Given the description of an element on the screen output the (x, y) to click on. 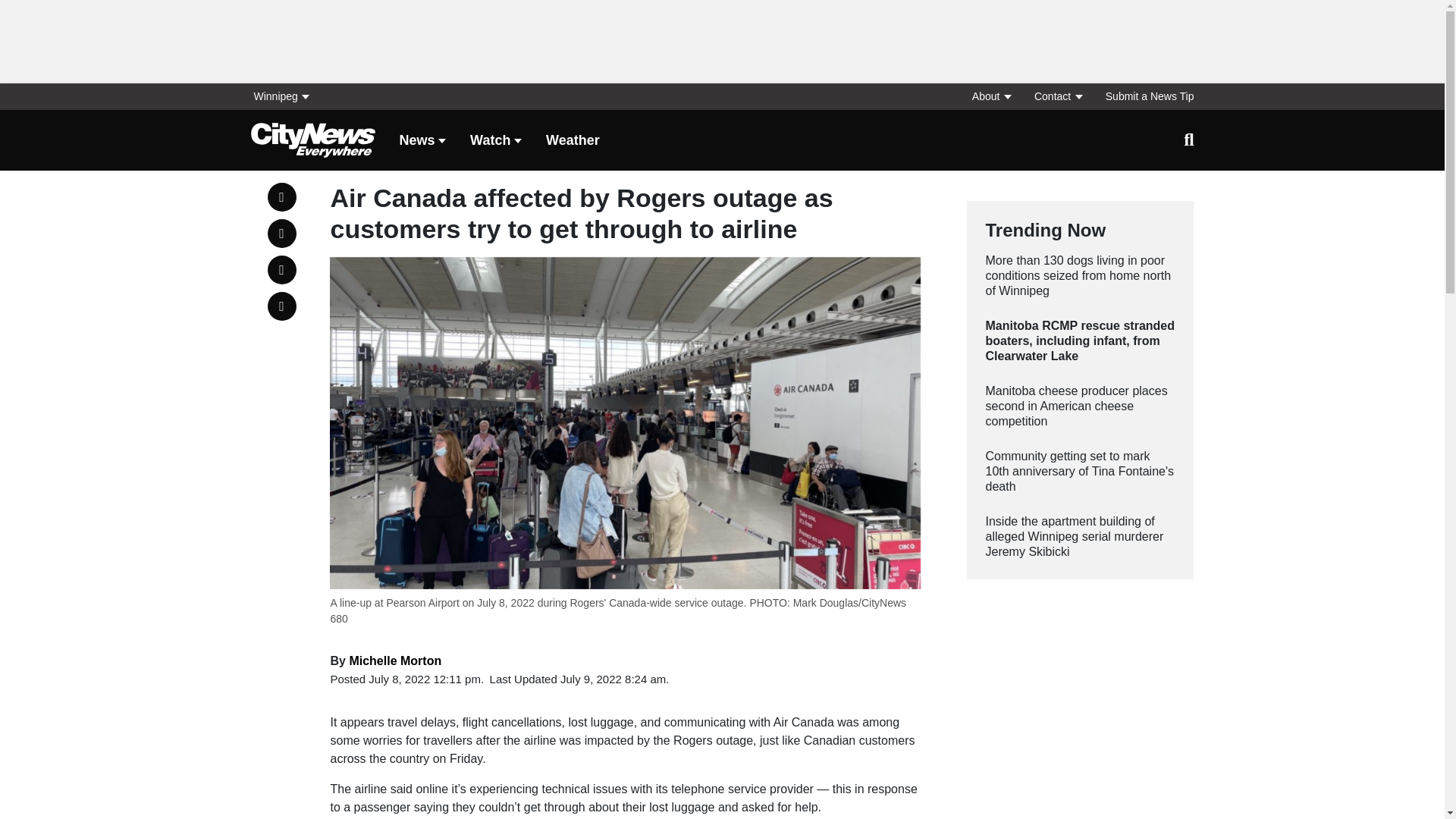
Contact (1057, 96)
Watch (495, 140)
About (990, 96)
News (421, 140)
Winnipeg (285, 96)
Weather (572, 140)
Submit a News Tip (1143, 96)
